Given the description of an element on the screen output the (x, y) to click on. 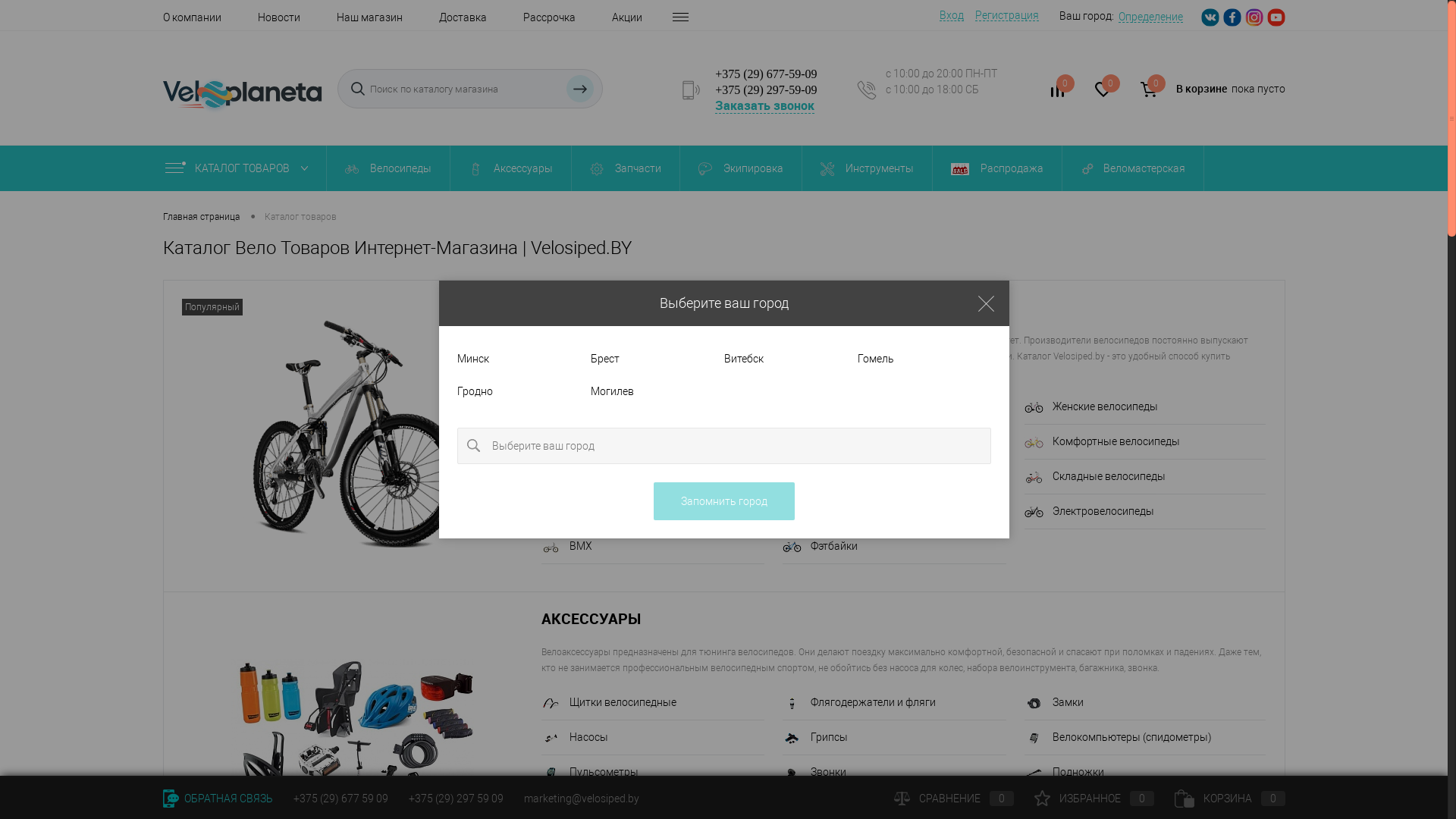
BMX Element type: text (653, 551)
+375 (29) 297-59-09 Element type: text (765, 89)
marketing@velosiped.by Element type: text (580, 798)
+375 (29) 677-59-09 Element type: text (765, 73)
0 Element type: text (1102, 91)
Y Element type: text (580, 88)
+375 (29) 677 59 09 Element type: text (339, 798)
+375 (29) 297 59 09 Element type: text (454, 798)
0 Element type: text (1056, 91)
0 Element type: text (1147, 89)
